Given the description of an element on the screen output the (x, y) to click on. 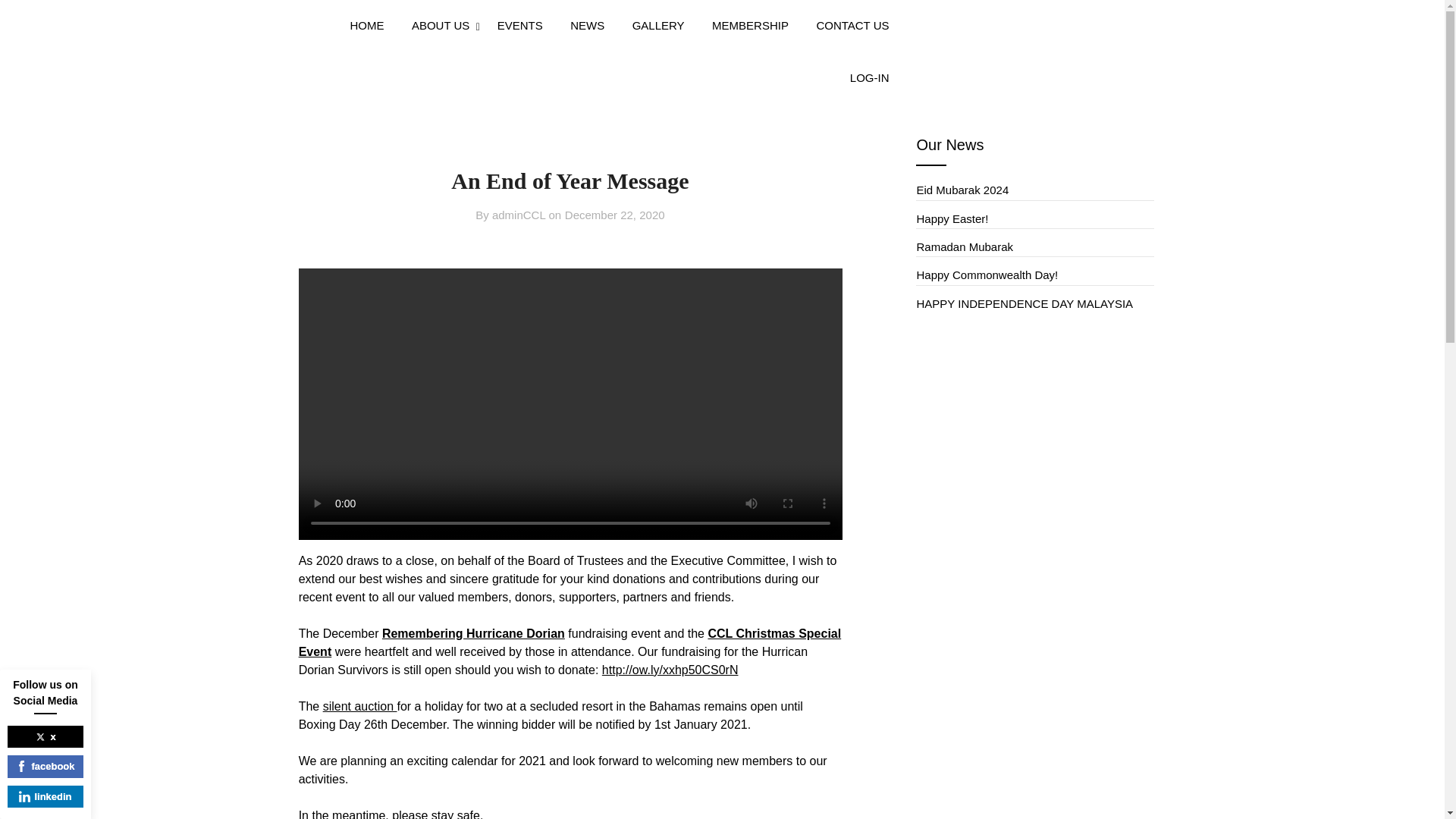
Happy Commonwealth Day! (986, 274)
MEMBERSHIP (750, 26)
LOG-IN (869, 78)
silent auction (360, 706)
ABOUT US (439, 26)
Eid Mubarak 2024 (962, 189)
CONTACT US (852, 26)
HAPPY INDEPENDENCE DAY MALAYSIA  (1025, 303)
NEWS (586, 26)
Happy Easter! (951, 218)
